Given the description of an element on the screen output the (x, y) to click on. 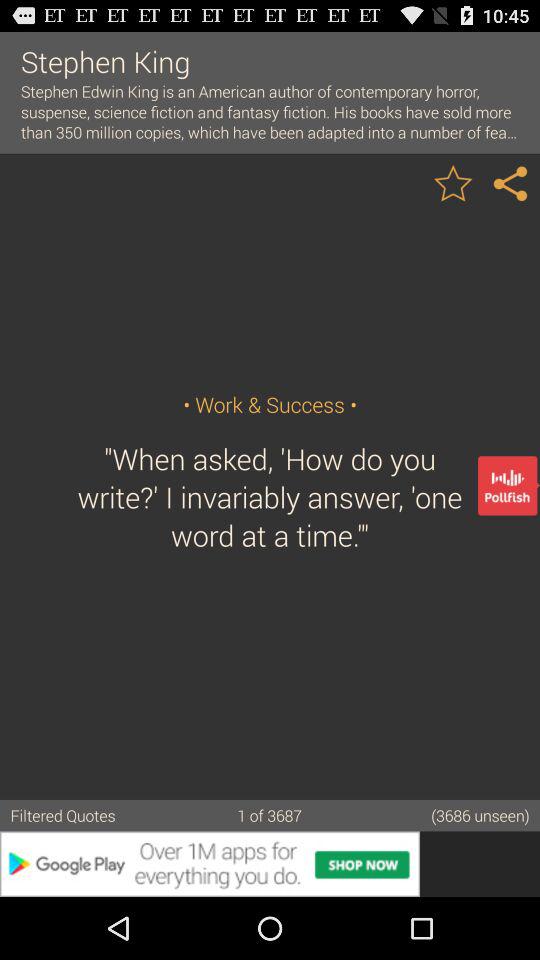
set as favorite (453, 182)
